Given the description of an element on the screen output the (x, y) to click on. 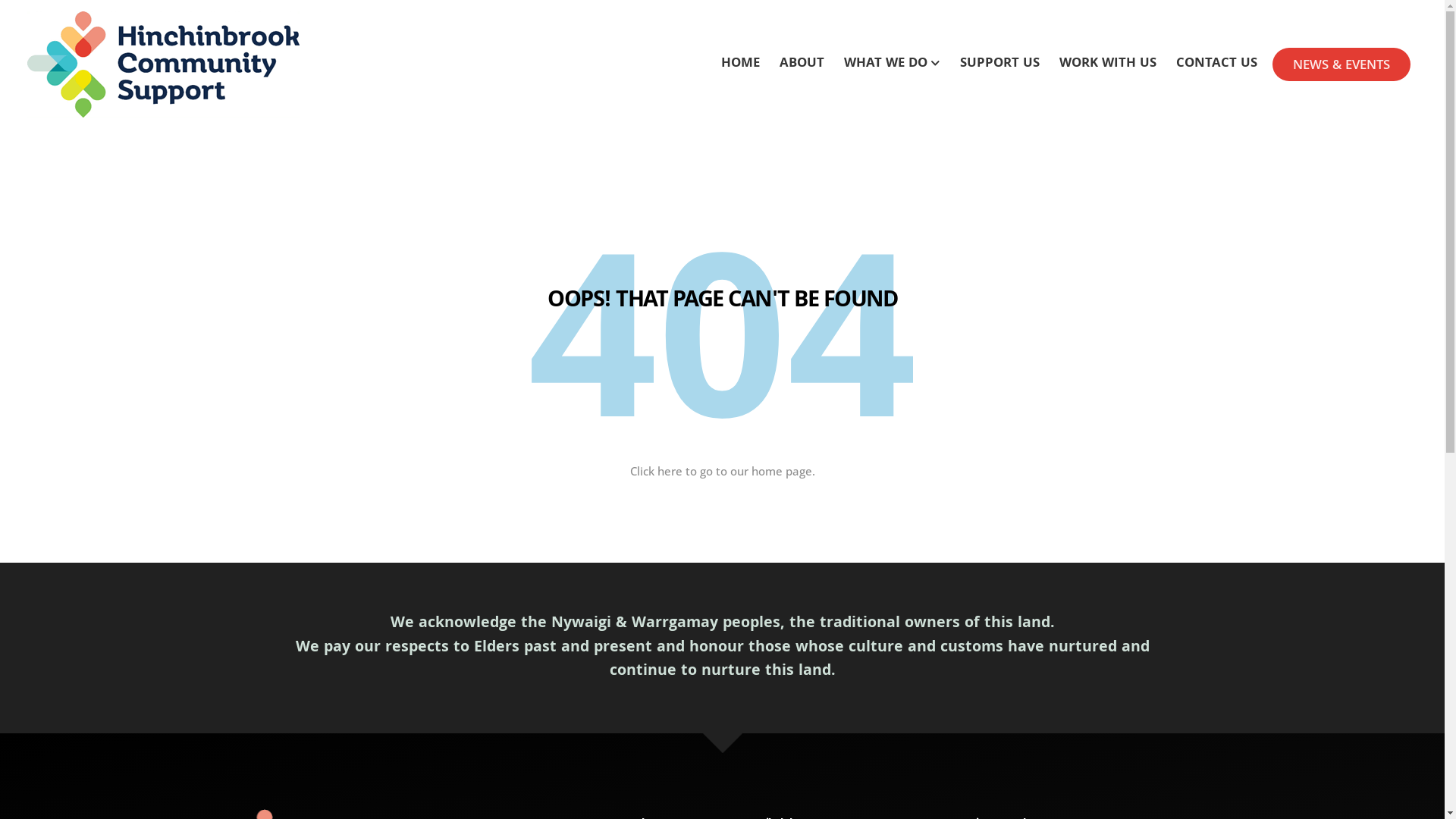
HOME Element type: text (740, 64)
WHAT WE DO Element type: text (892, 64)
WORK WITH US Element type: text (1107, 64)
Click here to go to our home page. Element type: text (721, 470)
NEWS & EVENTS Element type: text (1341, 64)
SUPPORT US Element type: text (999, 64)
ABOUT Element type: text (801, 64)
CONTACT US Element type: text (1216, 64)
